Given the description of an element on the screen output the (x, y) to click on. 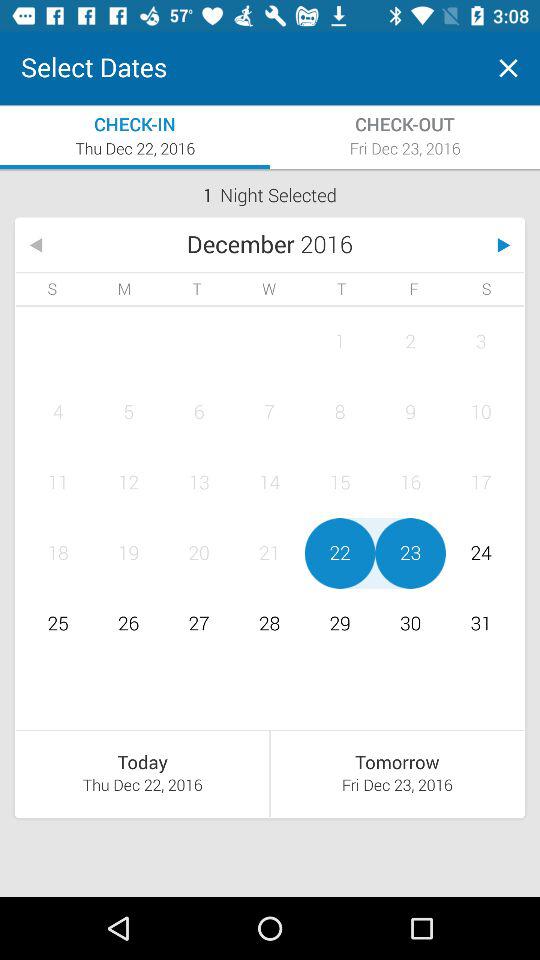
close the tab (508, 67)
